Given the description of an element on the screen output the (x, y) to click on. 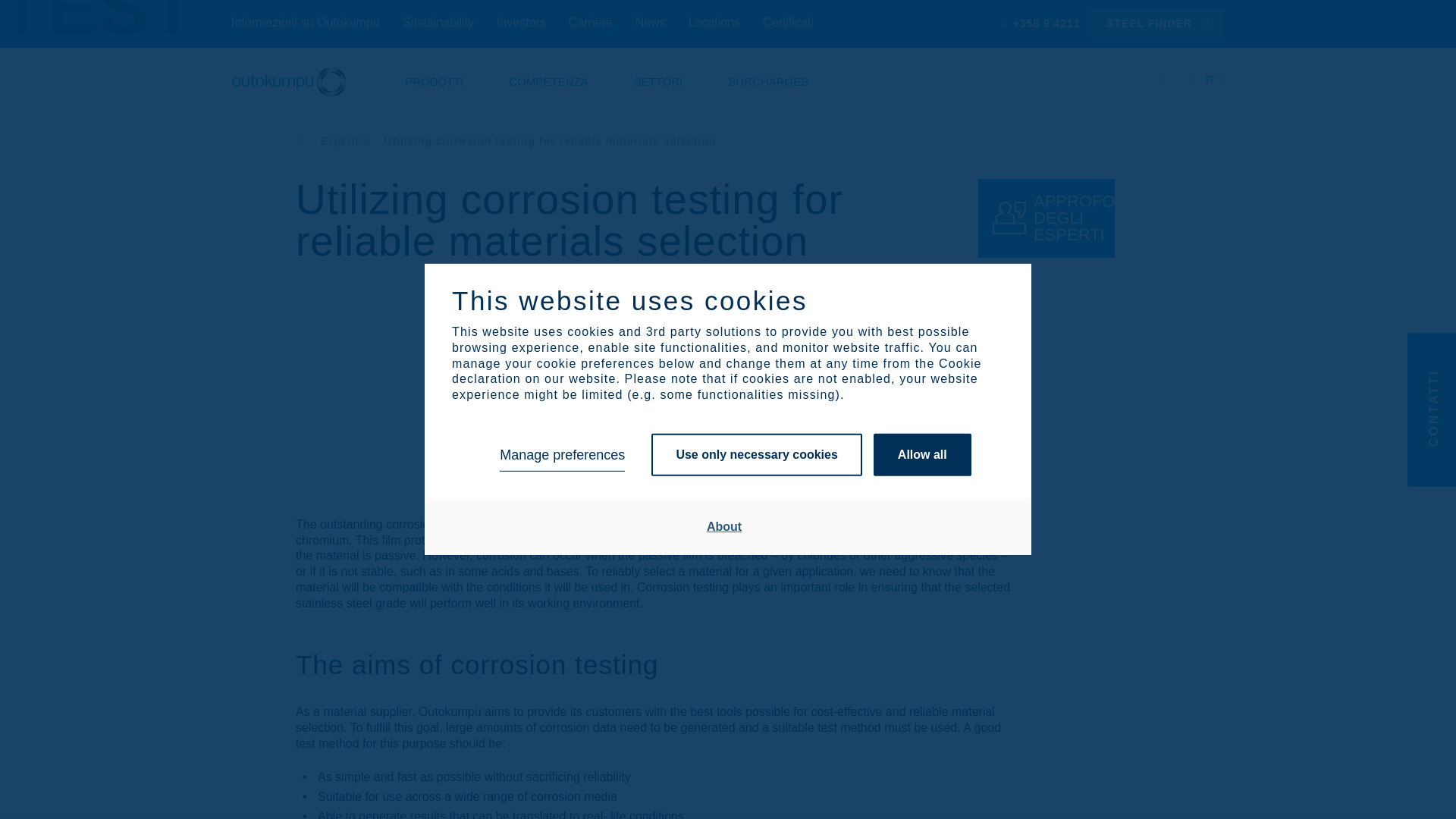
Use only necessary cookies (755, 454)
Allow all (922, 454)
Manage preferences (561, 454)
About (724, 526)
